Given the description of an element on the screen output the (x, y) to click on. 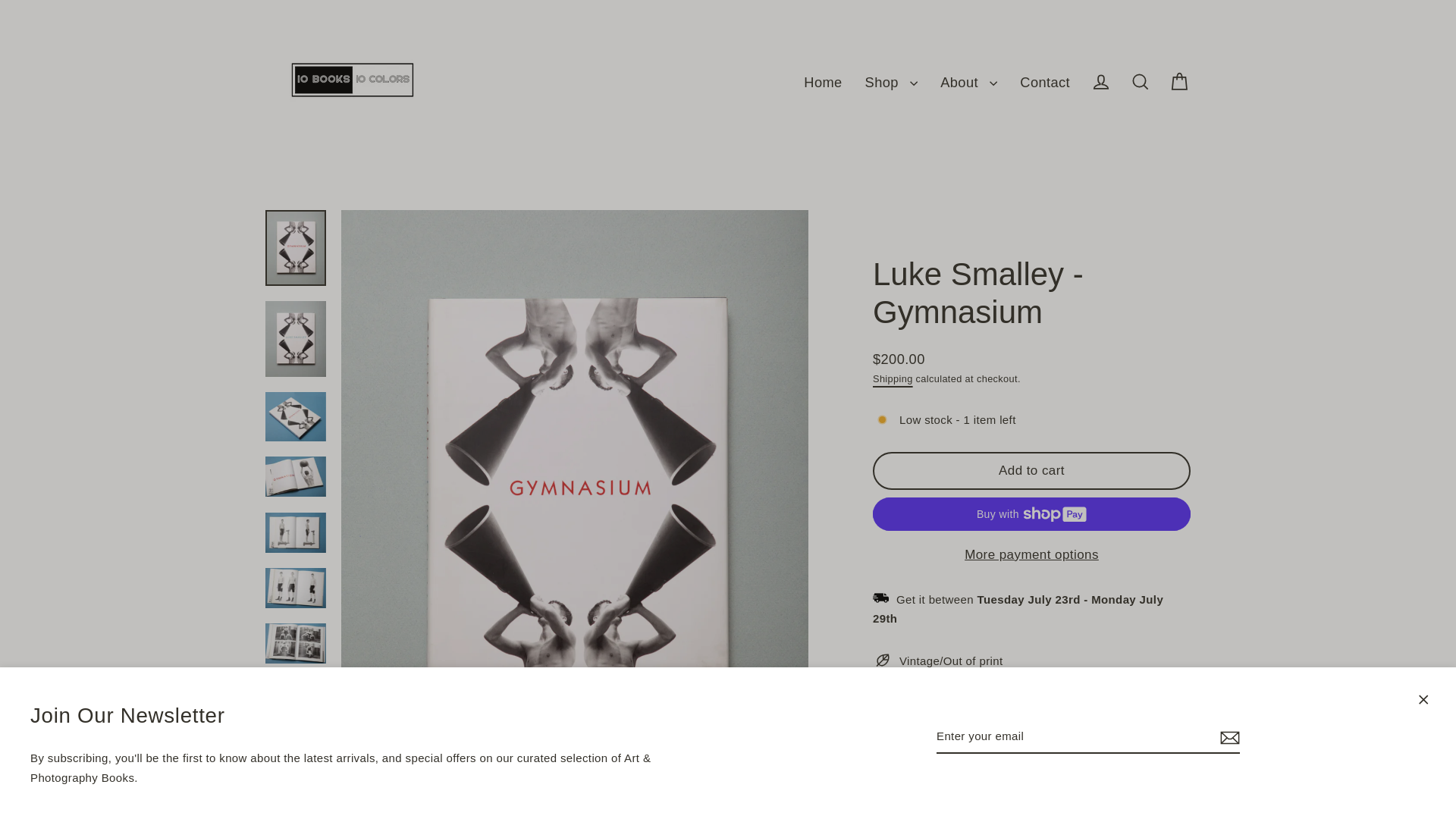
Log in (1101, 82)
Contact (1045, 81)
icon-X (1422, 700)
Search (1140, 82)
Home (822, 81)
Cart (1179, 82)
